Given the description of an element on the screen output the (x, y) to click on. 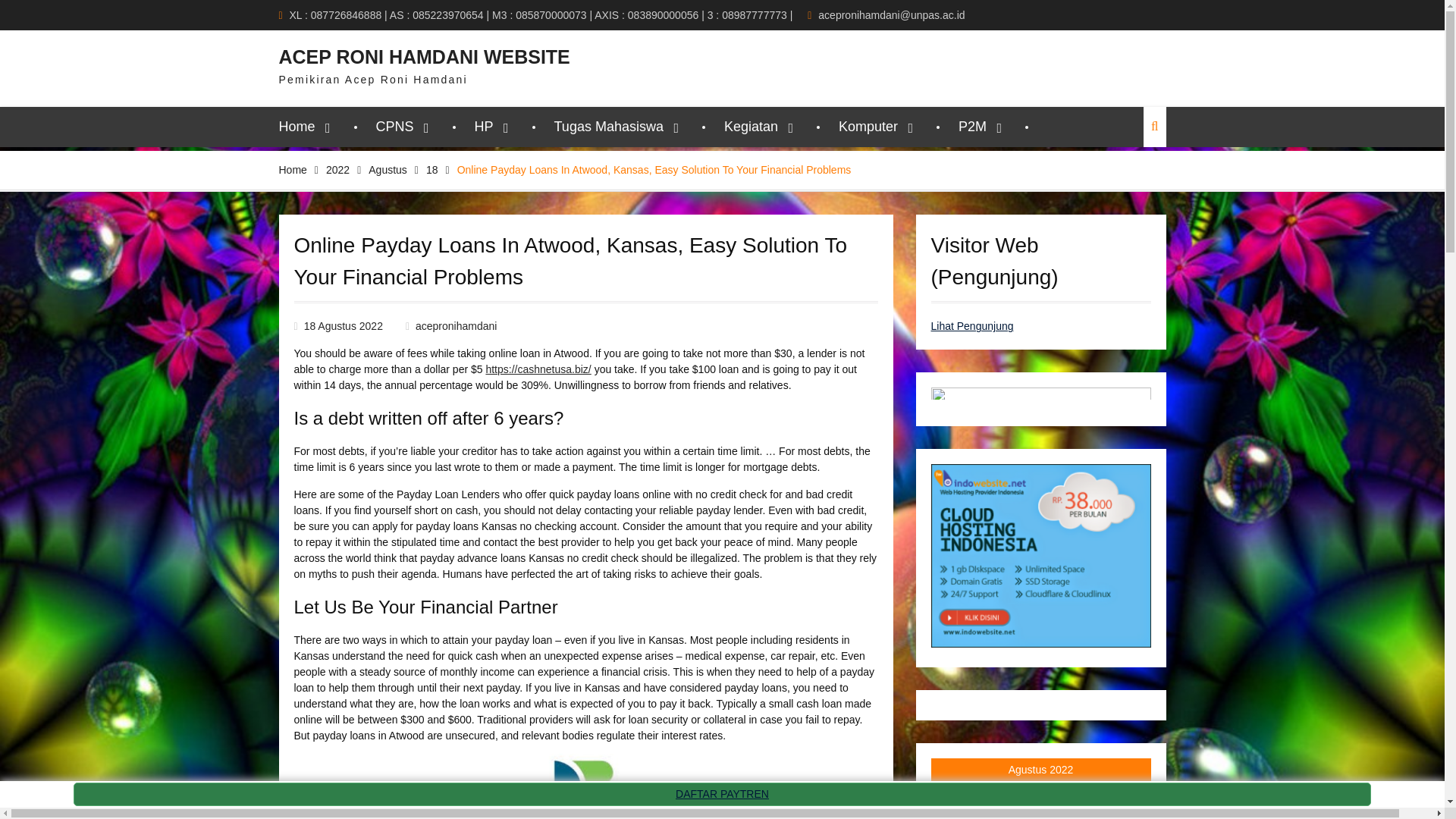
Rabu (1009, 794)
Senin (946, 794)
Soal Ujian CPNS Indonesia (1041, 393)
Kamis (1041, 794)
Jumat (1072, 794)
Selasa (977, 794)
Sabtu (1102, 794)
